Given the description of an element on the screen output the (x, y) to click on. 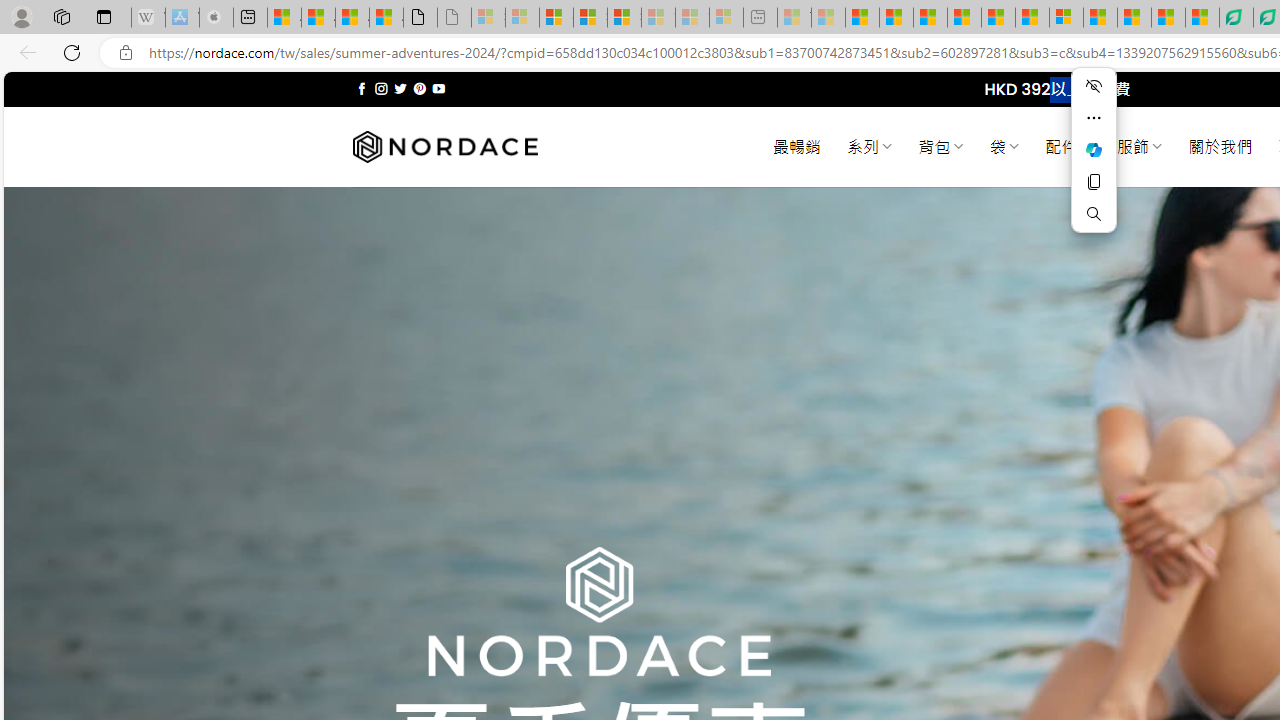
Follow on Pinterest (419, 88)
Food and Drink - MSN (895, 17)
Microsoft Services Agreement - Sleeping (521, 17)
Aberdeen, Hong Kong SAR weather forecast | Microsoft Weather (318, 17)
Drinking tea every day is proven to delay biological aging (964, 17)
Buy iPad - Apple - Sleeping (215, 17)
Ask Copilot (1094, 149)
